Given the description of an element on the screen output the (x, y) to click on. 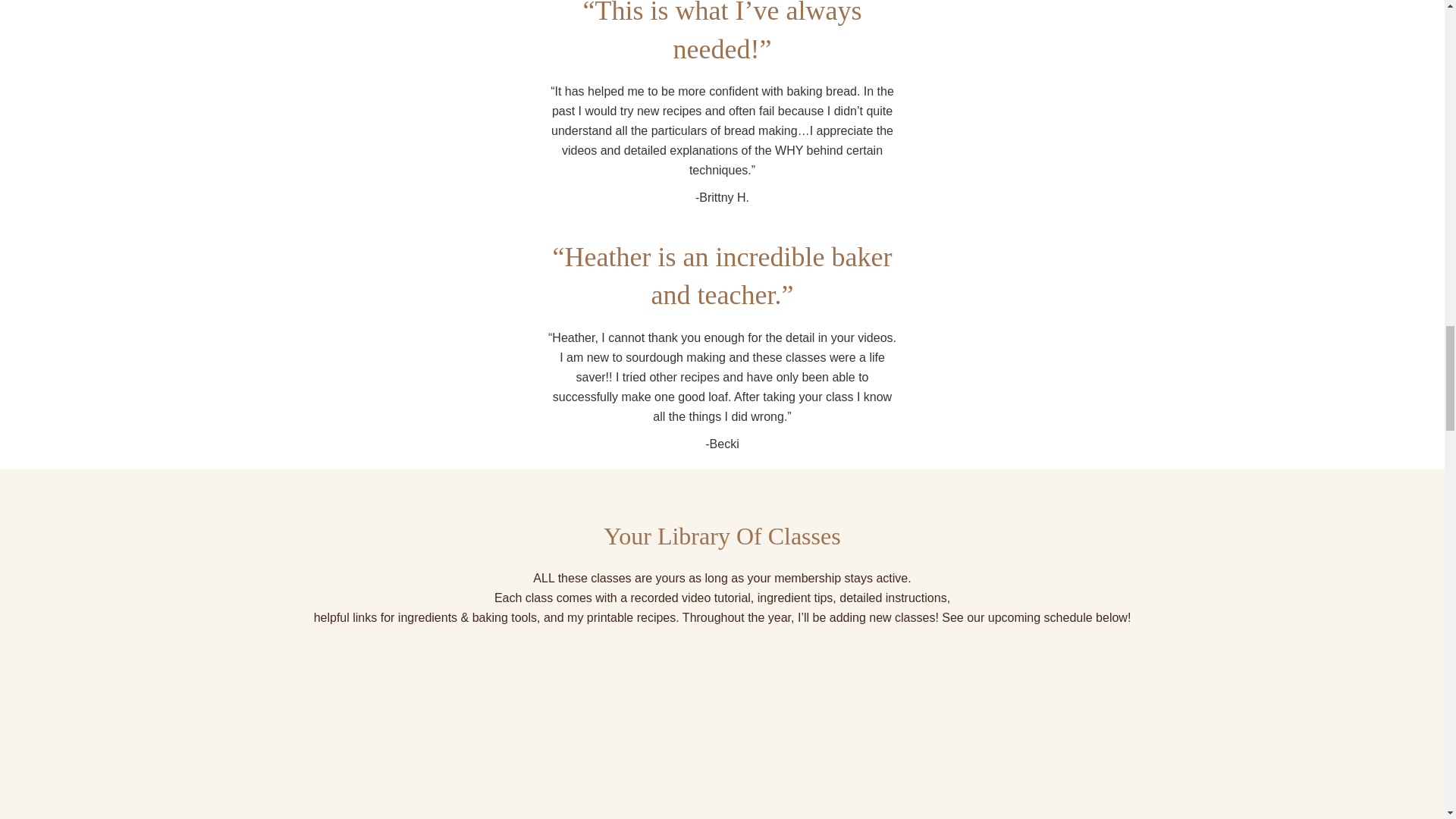
Chocolate Sourdough (401, 750)
Sourdough Pizzas (1078, 750)
Danish Pastries (628, 750)
